Given the description of an element on the screen output the (x, y) to click on. 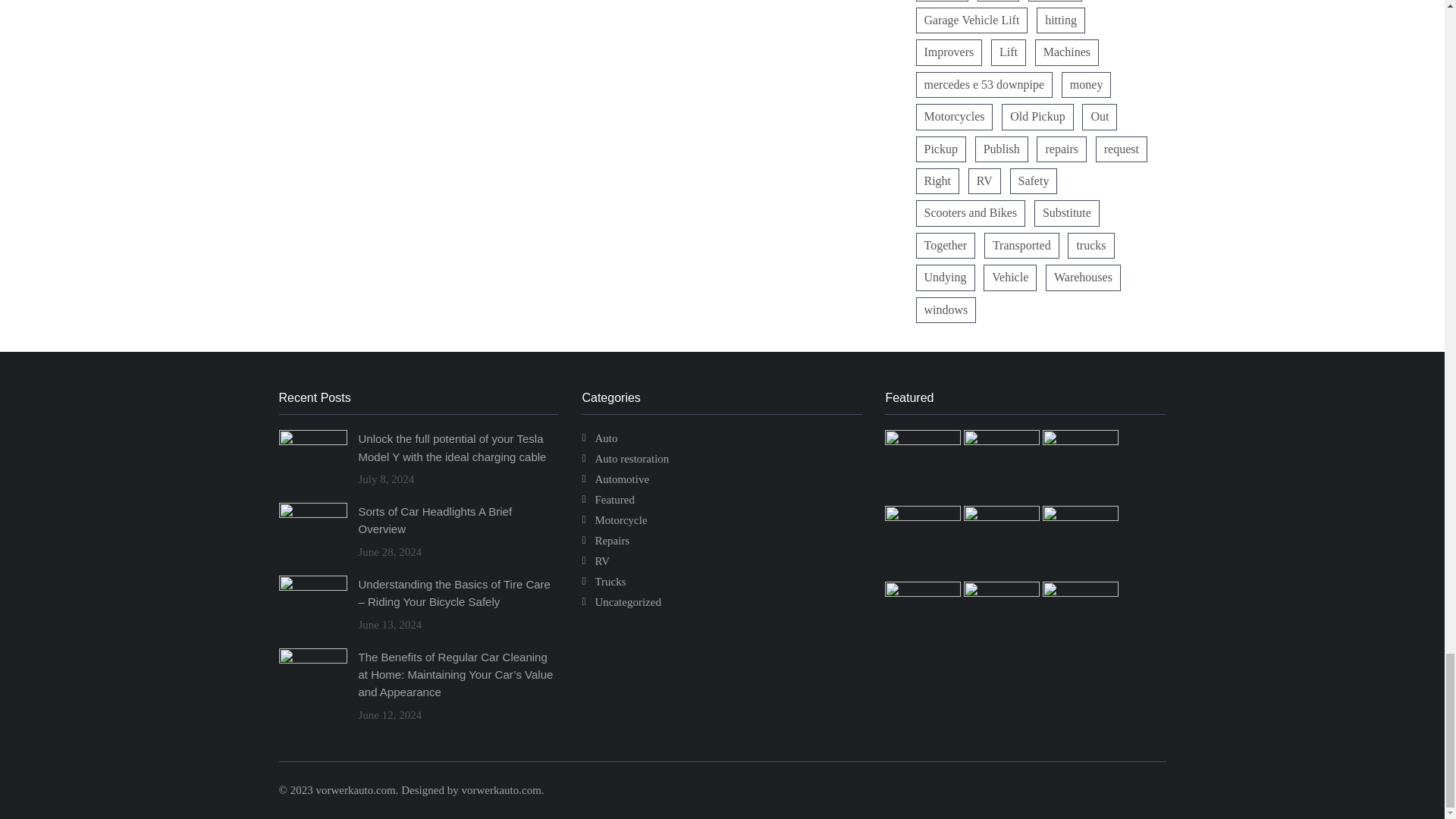
4 Tips on How to Keep Your Tesla Paint Looking New (1002, 517)
Asia Yachting: Where The Luxury New Yachts Are Found (1080, 592)
Sorts of Car Headlights A Brief Overview (1002, 440)
A Guide to Best Wheels Selection Types: Mobile Truck Repair (1002, 592)
